Given the description of an element on the screen output the (x, y) to click on. 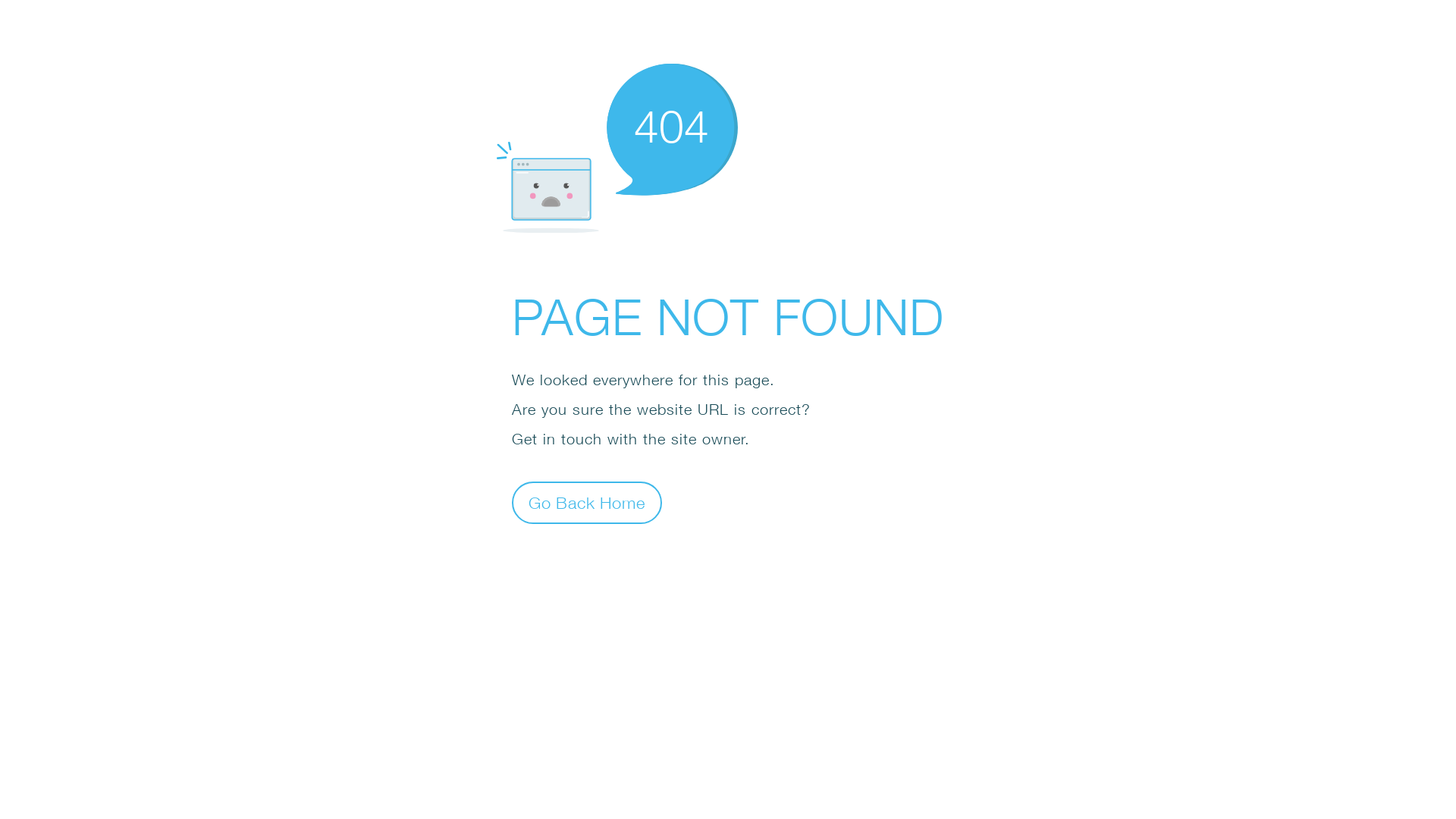
Go Back Home Element type: text (586, 502)
